Given the description of an element on the screen output the (x, y) to click on. 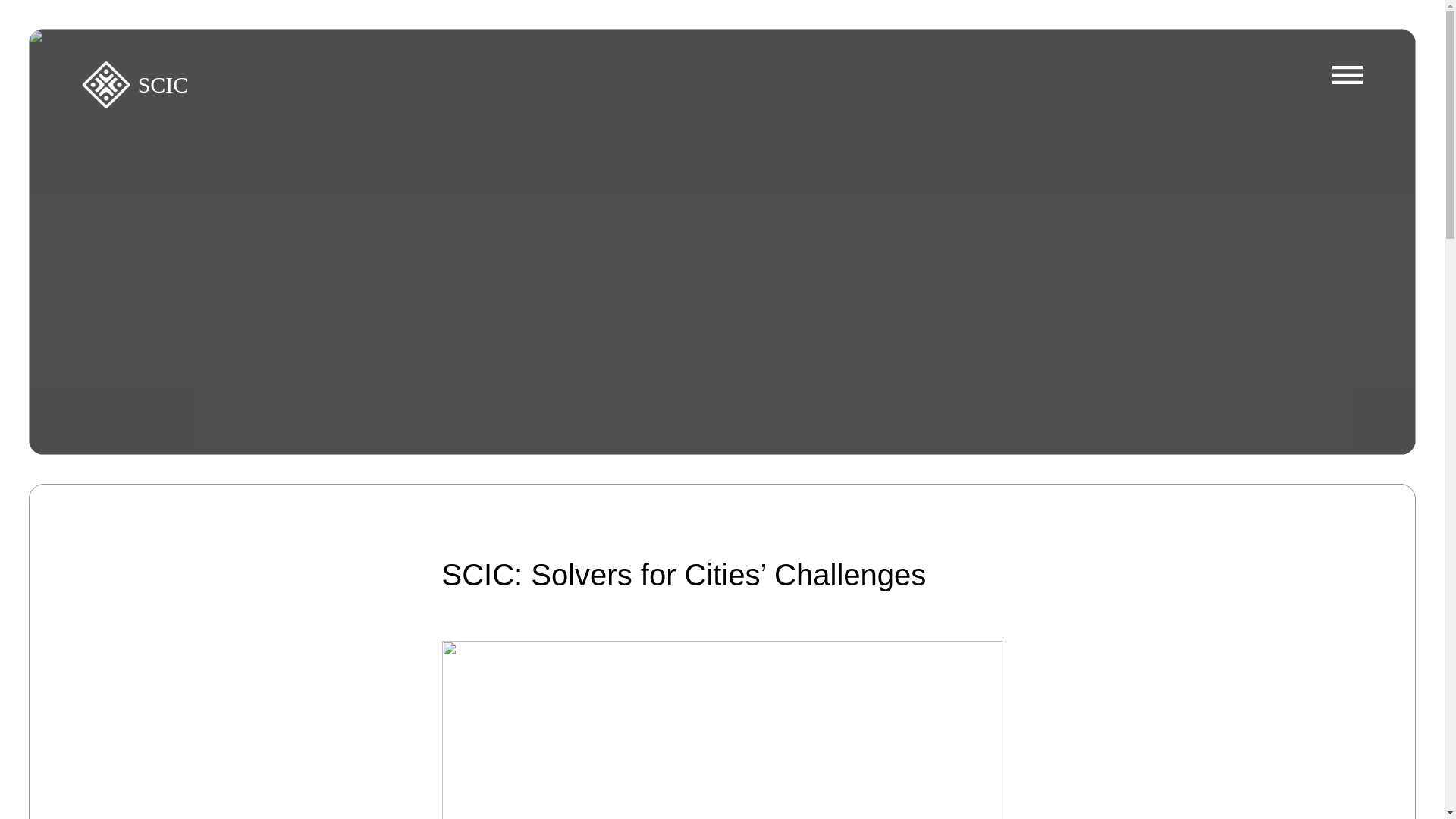
SCIC (163, 84)
